Given the description of an element on the screen output the (x, y) to click on. 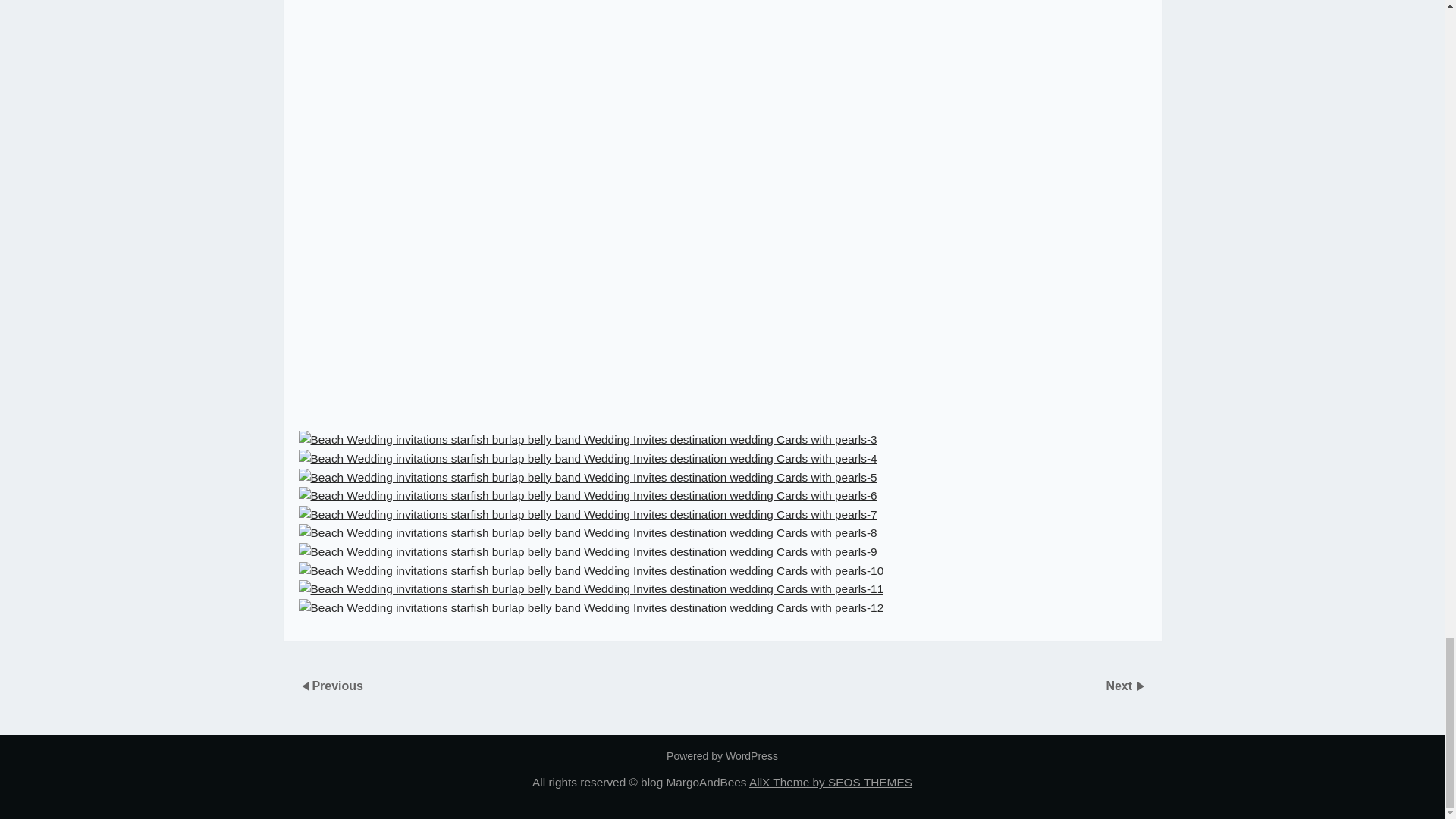
Previous (336, 684)
Next (1120, 684)
Powered by WordPress (721, 756)
AllX Theme by SEOS THEMES (830, 781)
SEOS THEMES - AllX (830, 781)
